Given the description of an element on the screen output the (x, y) to click on. 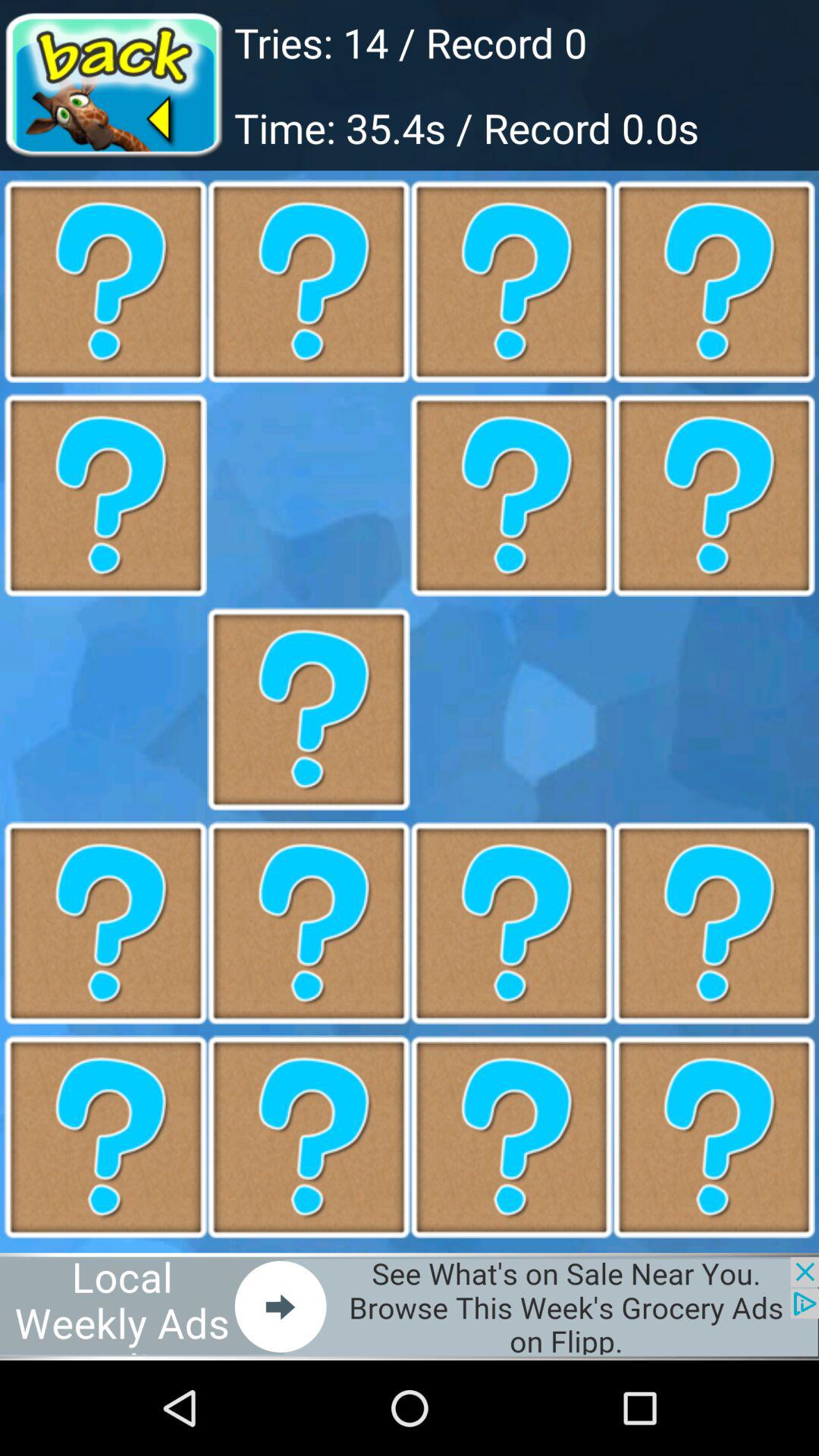
see grocery advertisements near you (409, 1306)
